Given the description of an element on the screen output the (x, y) to click on. 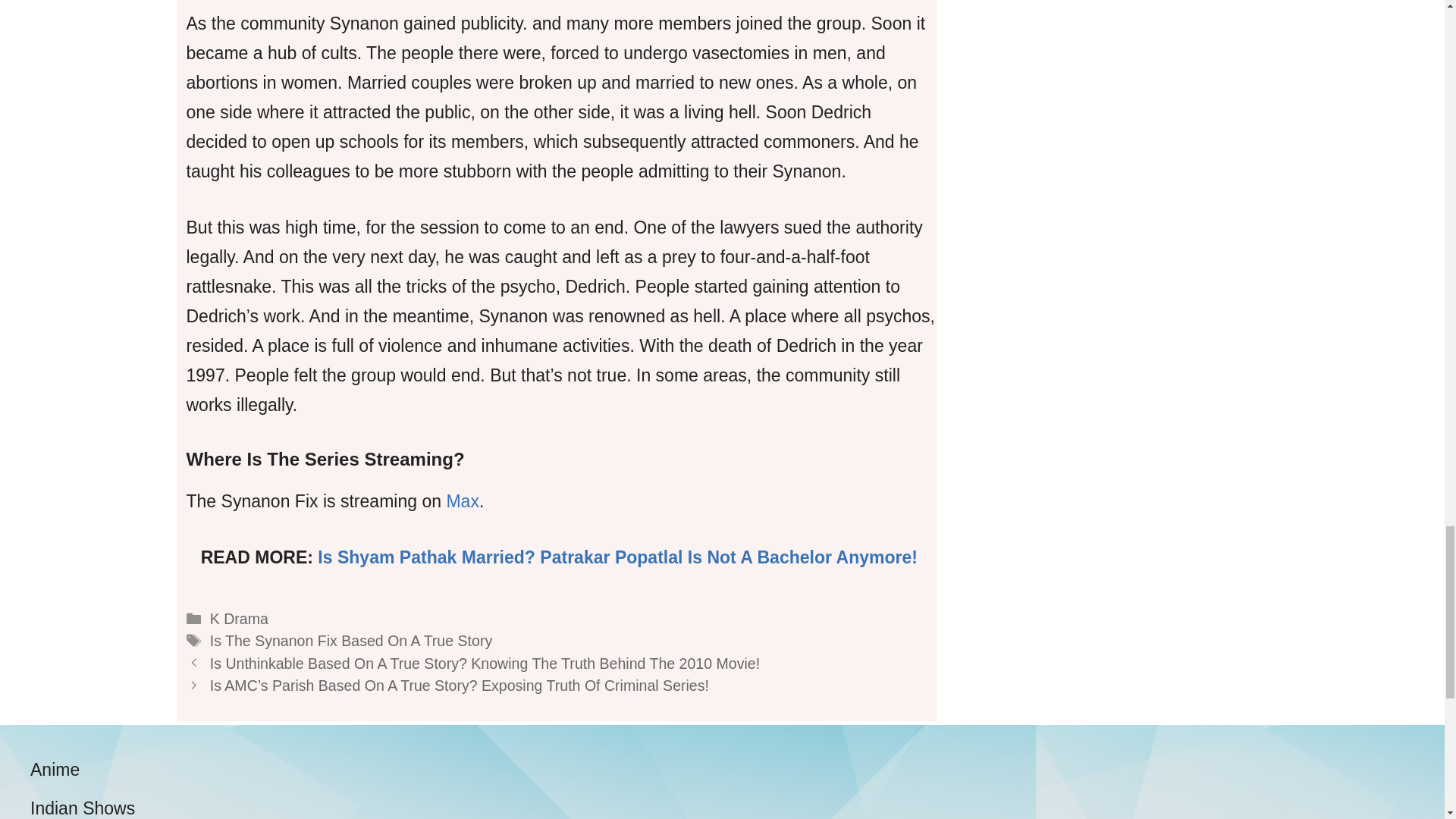
K Drama (238, 618)
Is The Synanon Fix Based On A True Story (350, 640)
Anime (55, 769)
Max (462, 501)
